Given the description of an element on the screen output the (x, y) to click on. 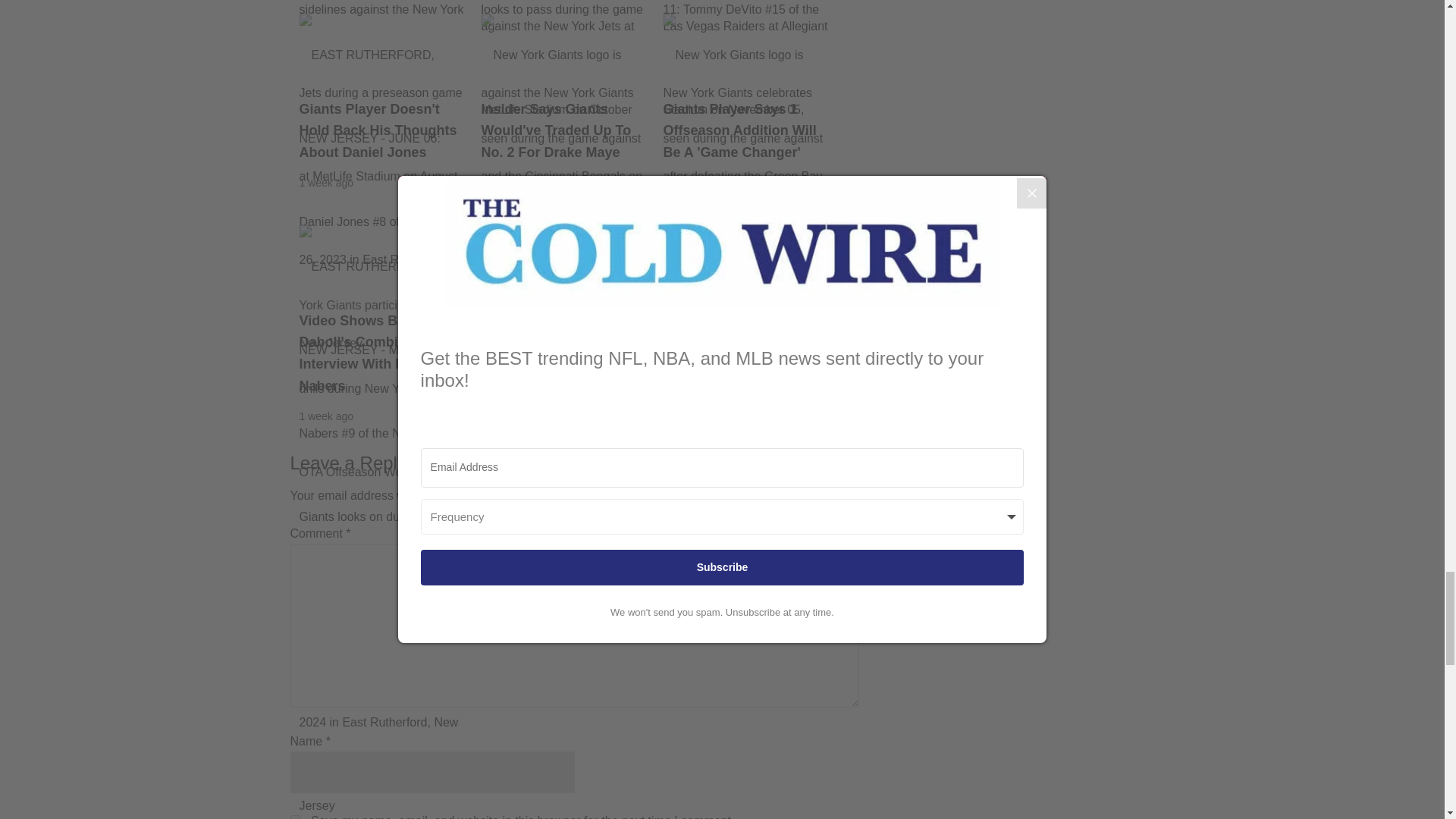
yes (294, 816)
